Given the description of an element on the screen output the (x, y) to click on. 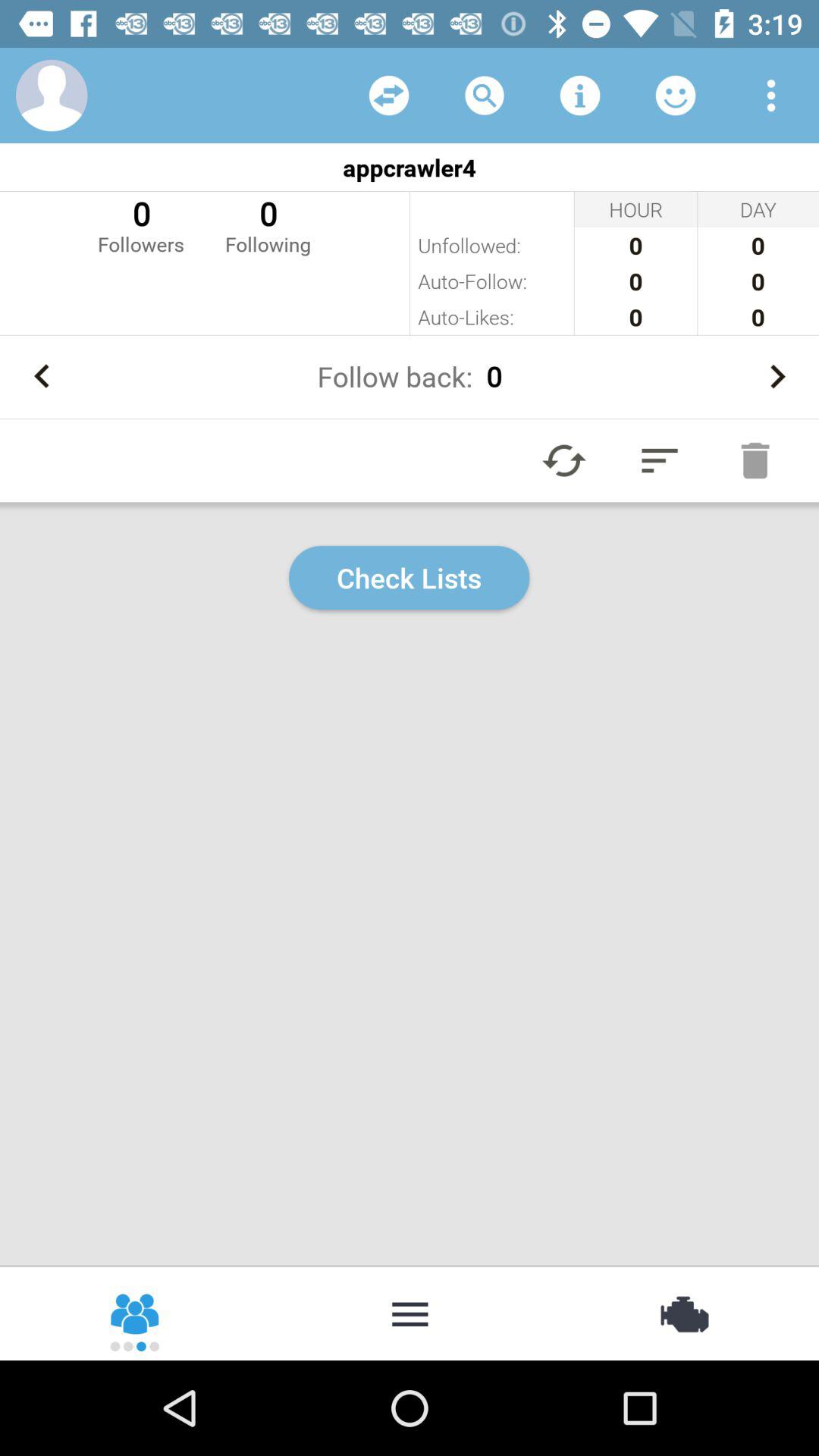
open the icon to the right of follow back:  0 icon (777, 376)
